Given the description of an element on the screen output the (x, y) to click on. 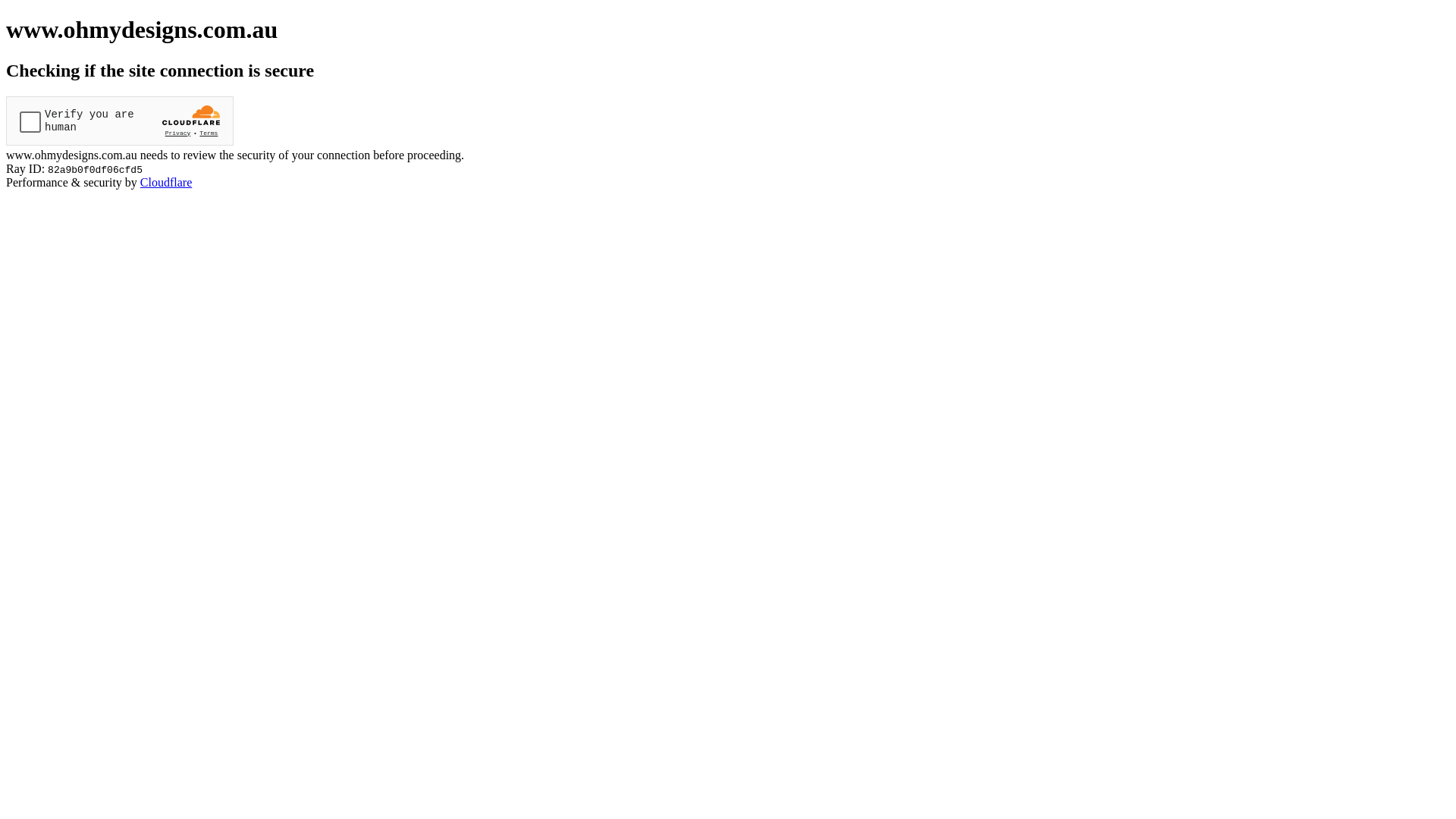
Cloudflare Element type: text (165, 181)
Widget containing a Cloudflare security challenge Element type: hover (119, 120)
